Given the description of an element on the screen output the (x, y) to click on. 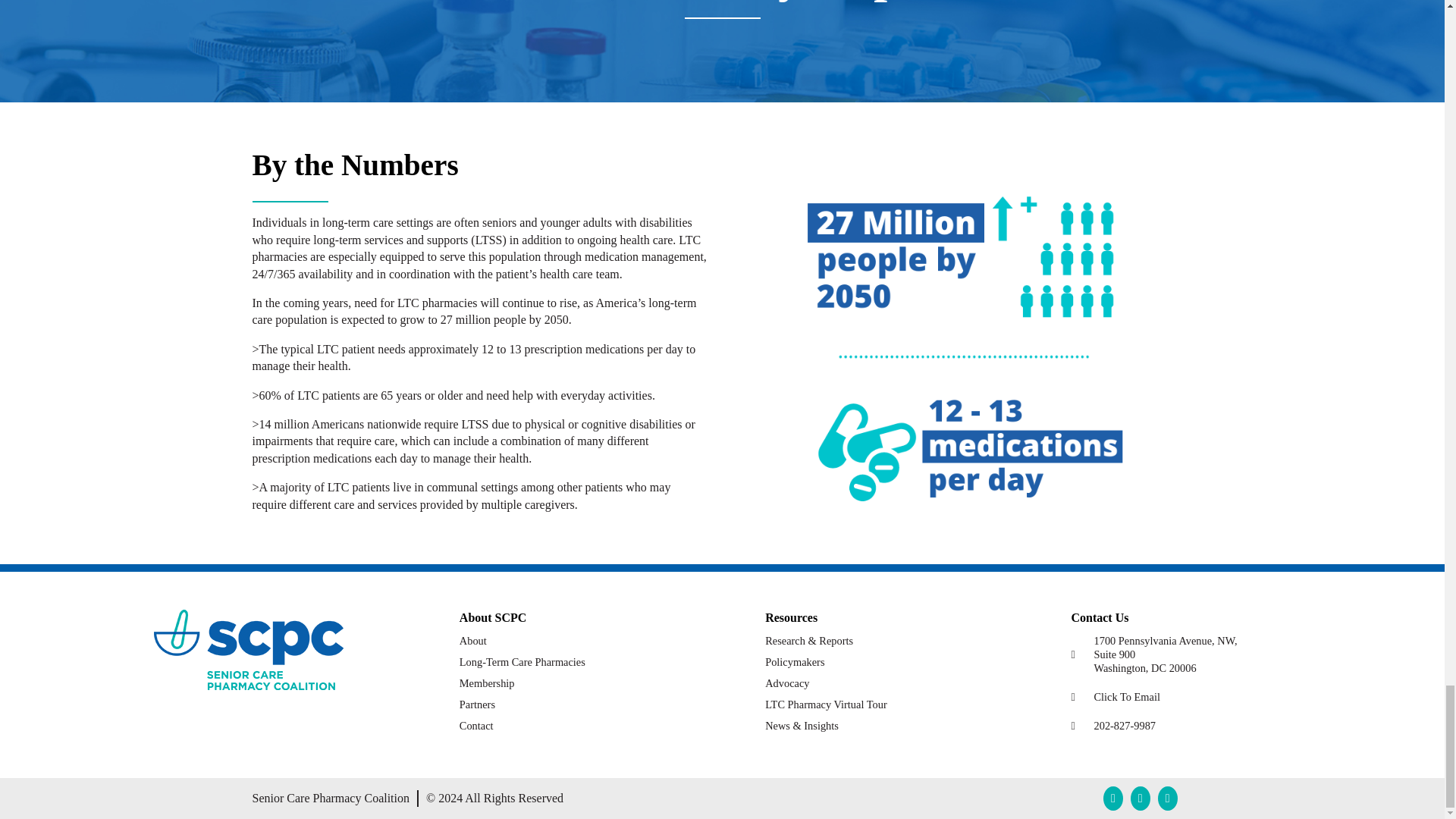
LTC Pharmacy Virtual Tour (825, 704)
202-827-9987 (1180, 725)
About (473, 640)
Advocacy (787, 683)
Contact (1180, 653)
Policymakers (476, 725)
Long-Term Care Pharmacies (794, 662)
Click To Email (522, 662)
Membership (1180, 696)
